Given the description of an element on the screen output the (x, y) to click on. 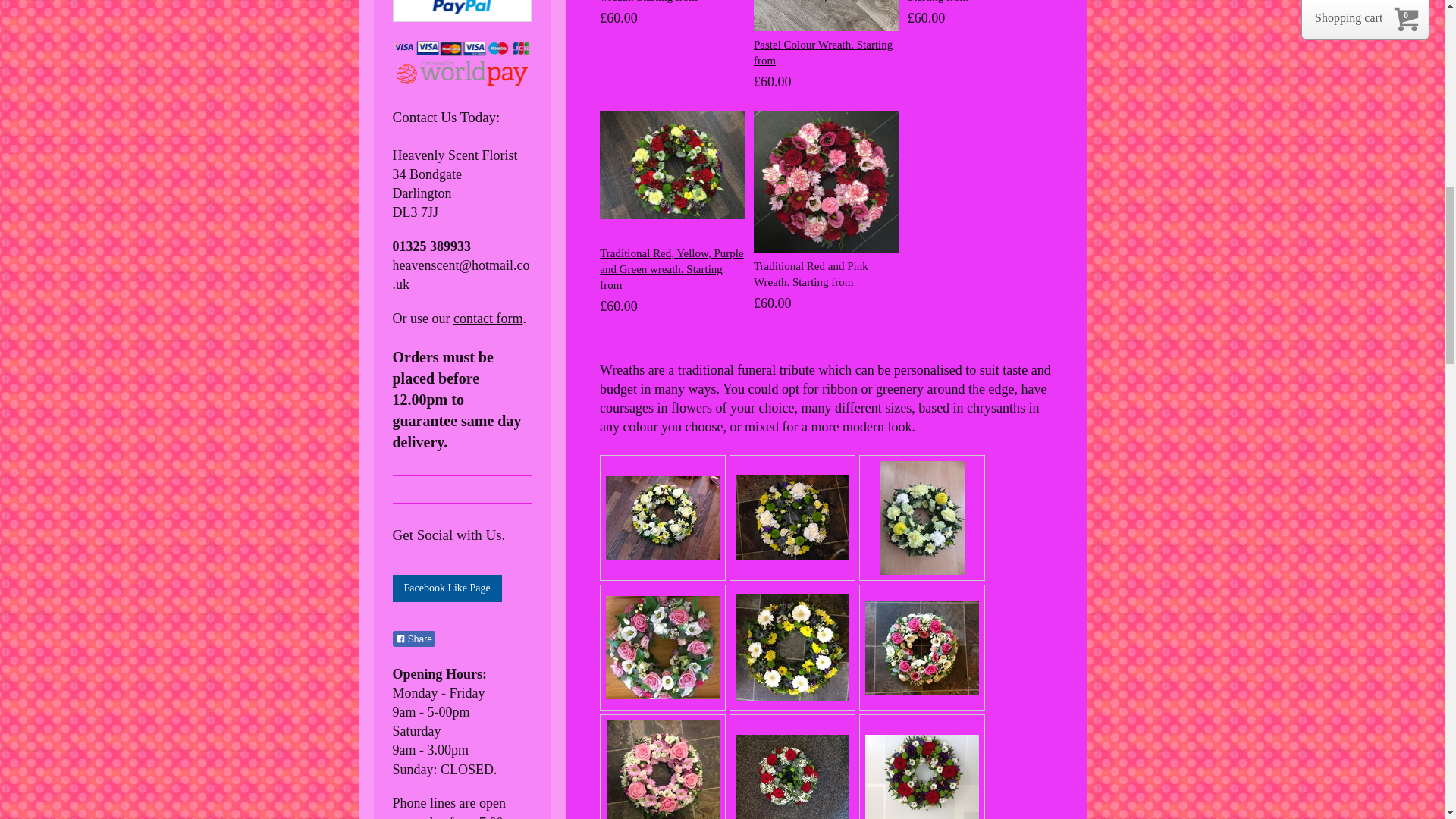
mixed wreath (921, 647)
mixed wreath (662, 647)
mixed wreath (791, 647)
mixed wreath (791, 776)
mixed wreath  (662, 517)
mixed wreath (921, 776)
mixed wreath (663, 769)
mixed wreath (791, 517)
